Given the description of an element on the screen output the (x, y) to click on. 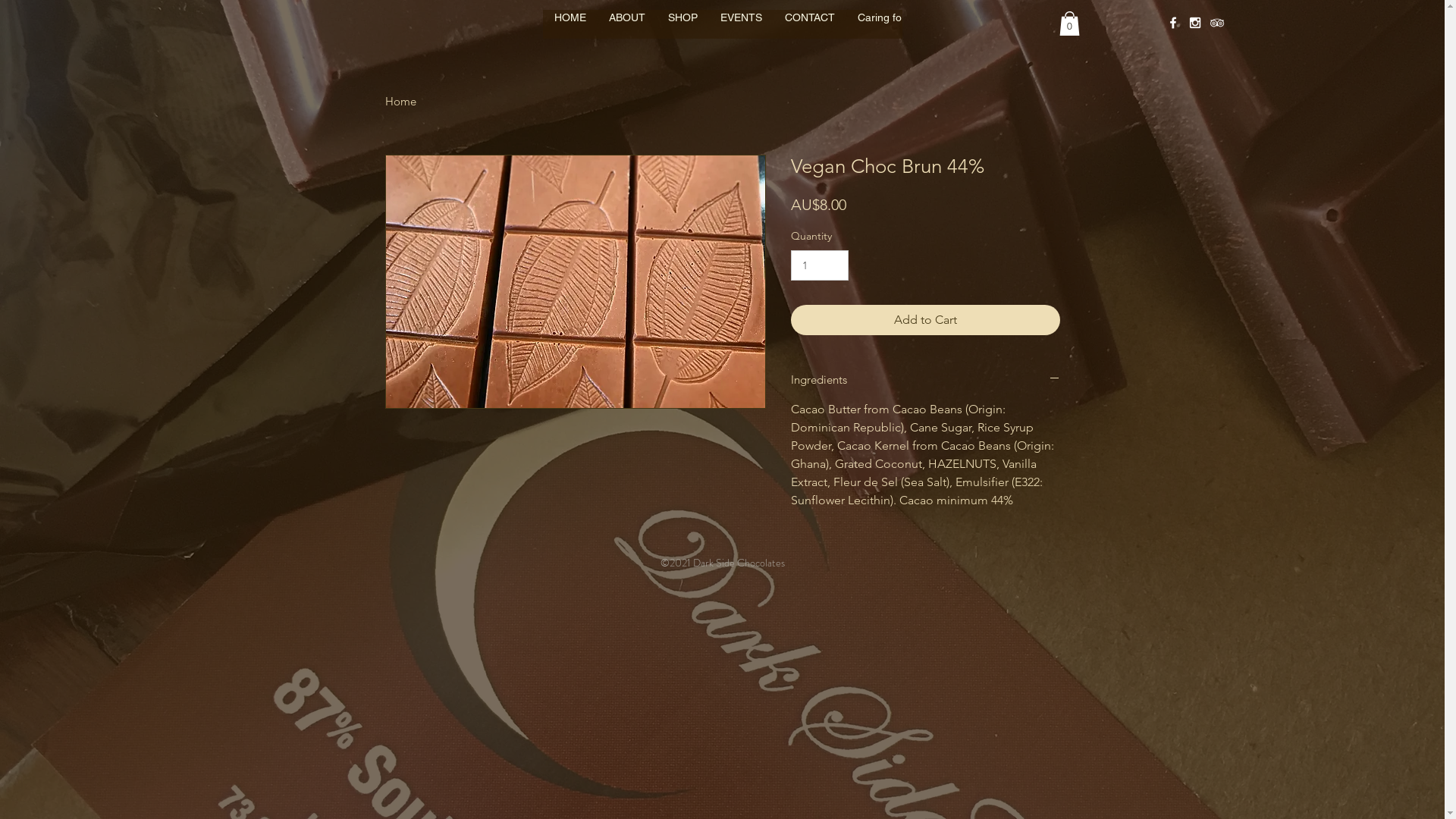
ABOUT Element type: text (626, 28)
EVENTS Element type: text (740, 28)
CONTACT Element type: text (809, 28)
Ingredients Element type: text (924, 379)
0 Element type: text (1068, 23)
Caring for chocolates Element type: text (908, 28)
Home Element type: text (400, 101)
SHOP Element type: text (682, 28)
Add to Cart Element type: text (924, 319)
HOME Element type: text (569, 28)
